Given the description of an element on the screen output the (x, y) to click on. 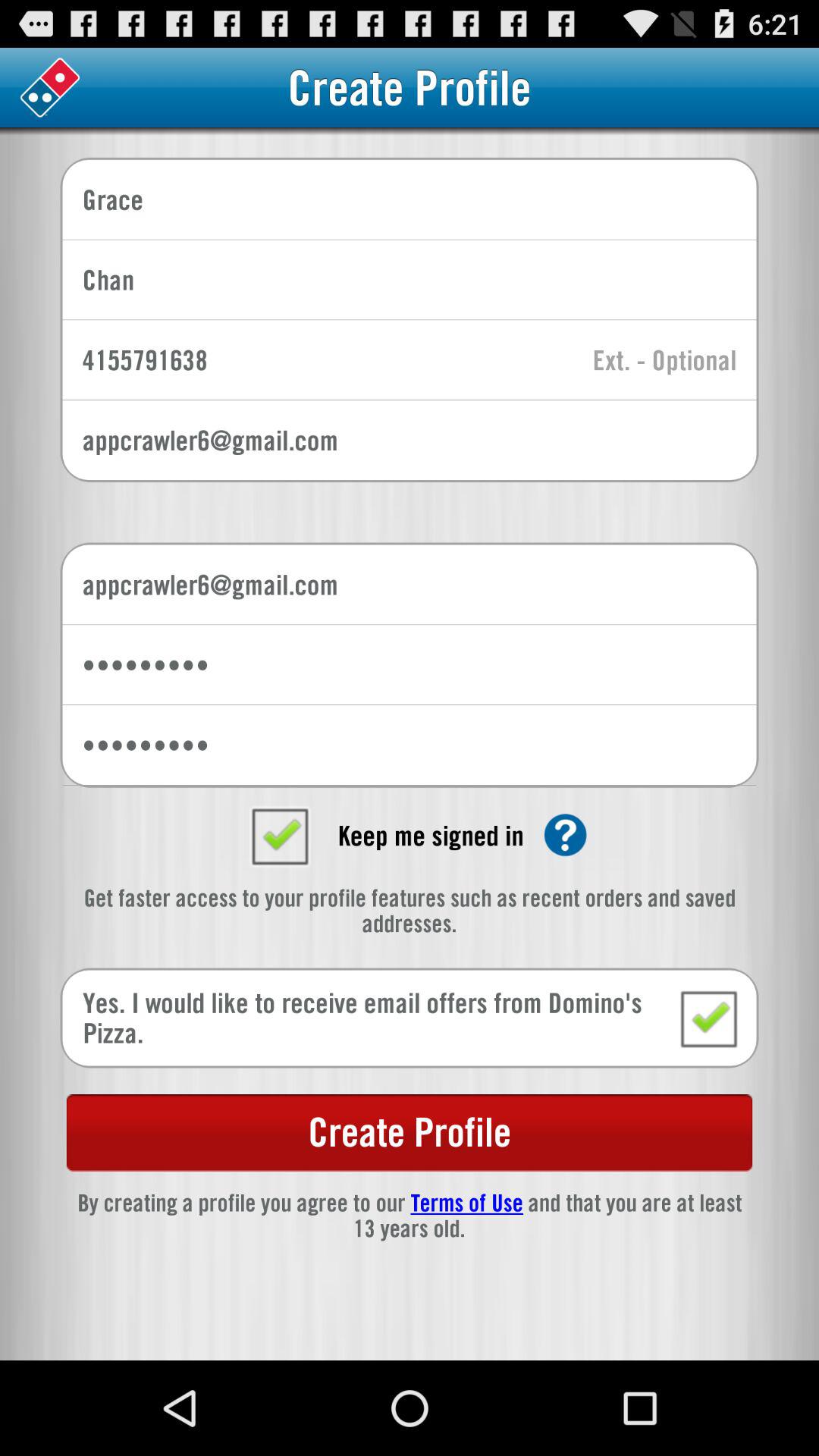
keep me signed in (279, 835)
